Given the description of an element on the screen output the (x, y) to click on. 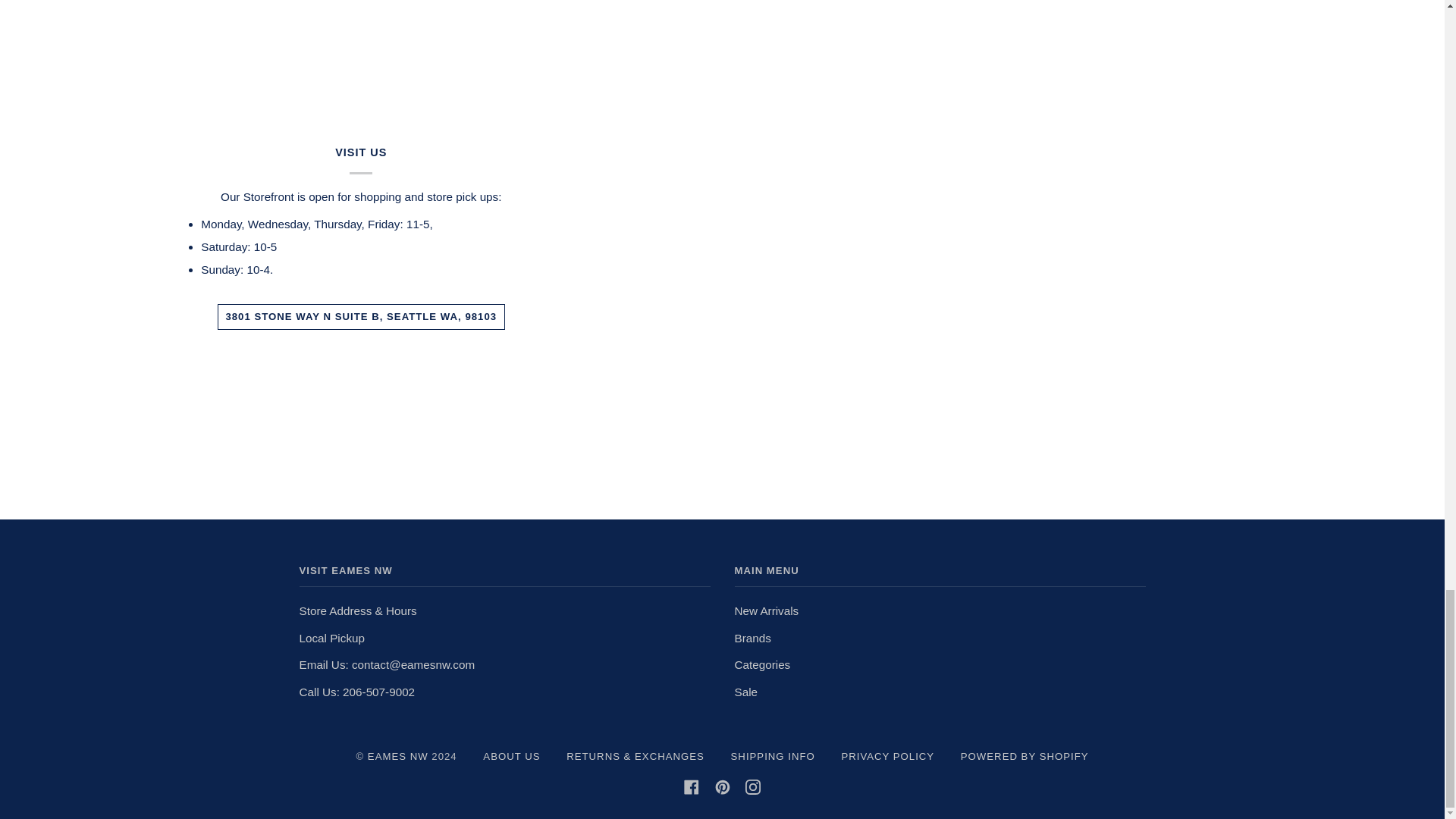
Instagram (752, 786)
Facebook (691, 786)
Pinterest (721, 786)
